Given the description of an element on the screen output the (x, y) to click on. 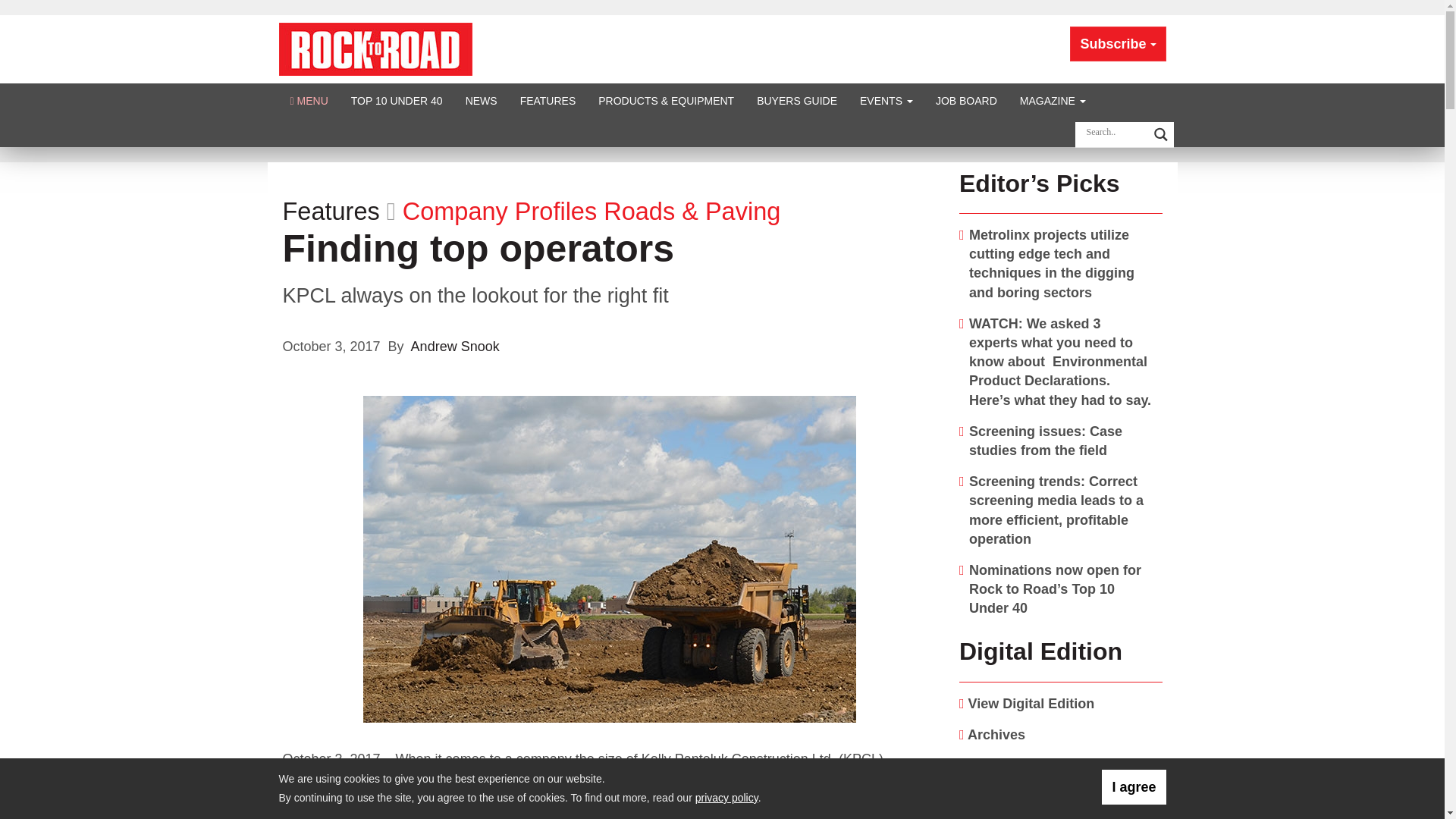
Rock to Road (375, 48)
BUYERS GUIDE (796, 100)
MENU (309, 100)
Subscribe (1118, 43)
FEATURES (548, 100)
EVENTS (886, 100)
NEWS (481, 100)
MAGAZINE (1053, 100)
Click to show site navigation (309, 100)
JOB BOARD (966, 100)
